Given the description of an element on the screen output the (x, y) to click on. 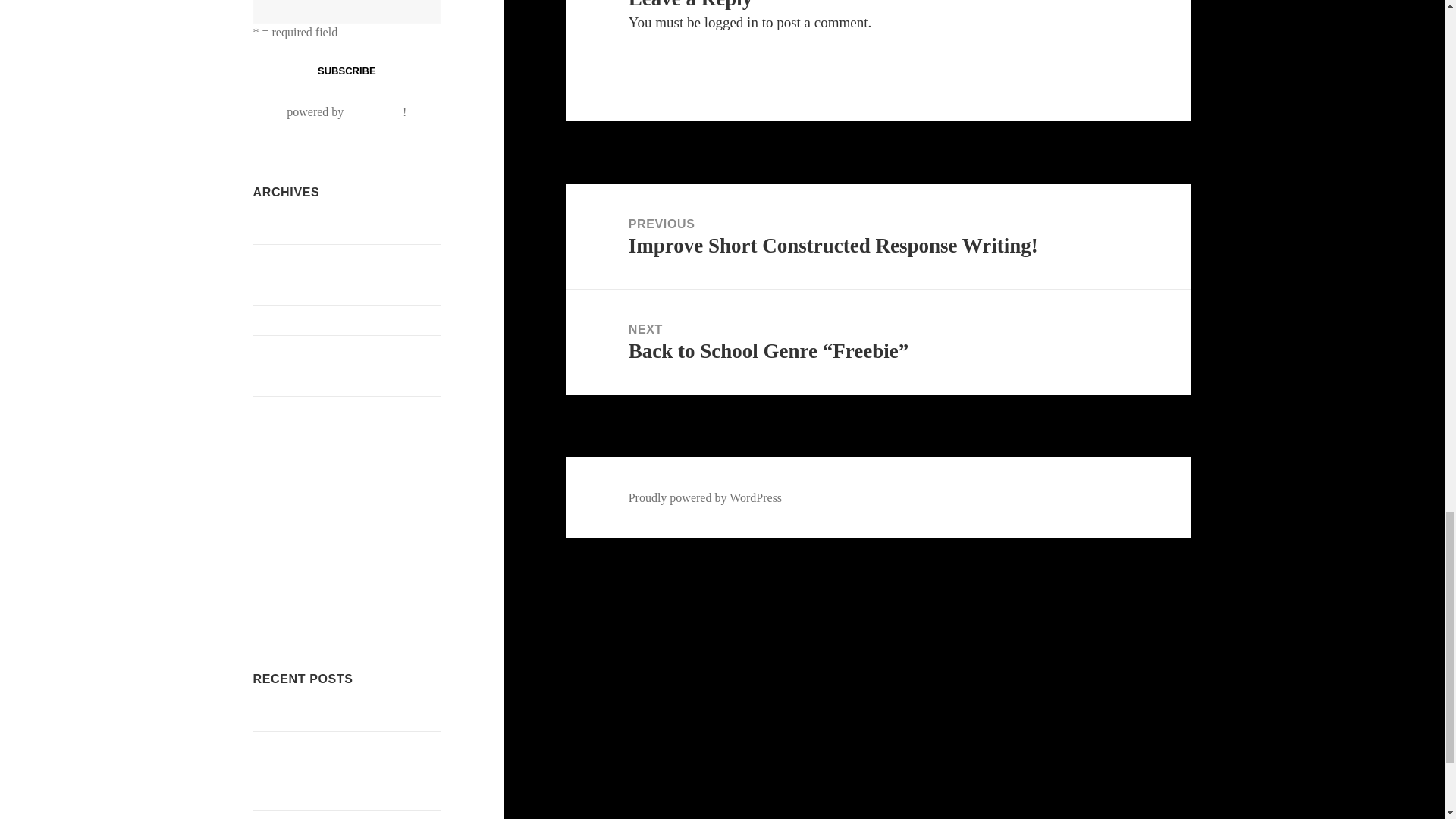
June 2016 (277, 318)
What A Game Changer This Is! (329, 715)
May 2016 (277, 349)
April 2024 (279, 228)
There Has To Be A Better Way! (330, 793)
June 2023 (277, 258)
Use Genre To Introduce Literary Analysis! (332, 754)
logged in (731, 22)
Subscribe (346, 70)
